Given the description of an element on the screen output the (x, y) to click on. 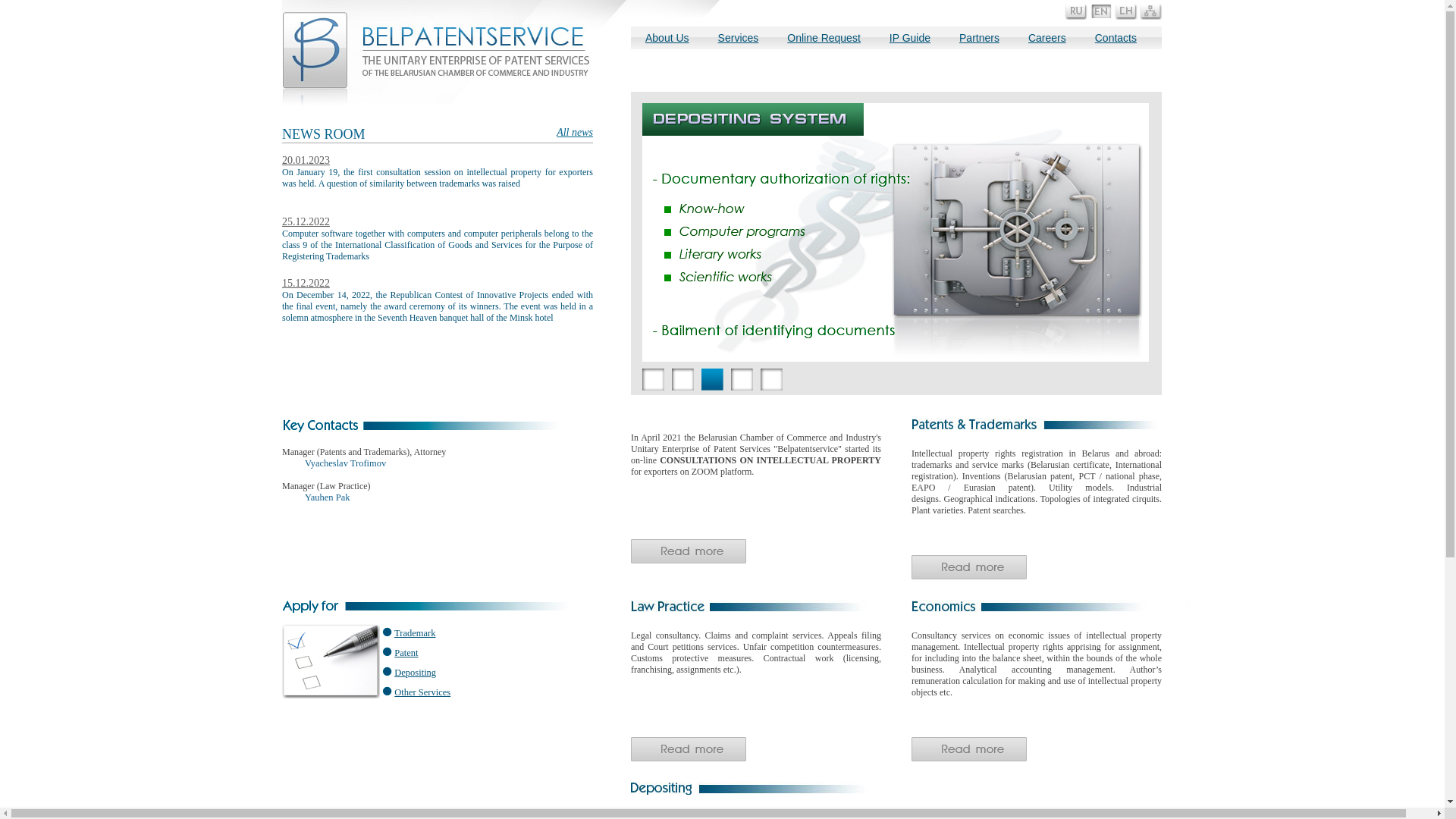
About Us Element type: text (666, 41)
Yauhen Pak Element type: text (327, 497)
Online Request Element type: text (823, 41)
Partners Element type: text (978, 37)
Vyacheslav Trofimov Element type: text (344, 463)
Services Element type: text (738, 41)
Other Services Element type: text (422, 692)
Depositing Element type: text (415, 672)
IP Guide Element type: text (909, 41)
Careers Element type: text (1046, 37)
Patent Element type: text (405, 652)
All news Element type: text (574, 132)
Contacts Element type: text (1115, 37)
Trademark Element type: text (414, 632)
